Given the description of an element on the screen output the (x, y) to click on. 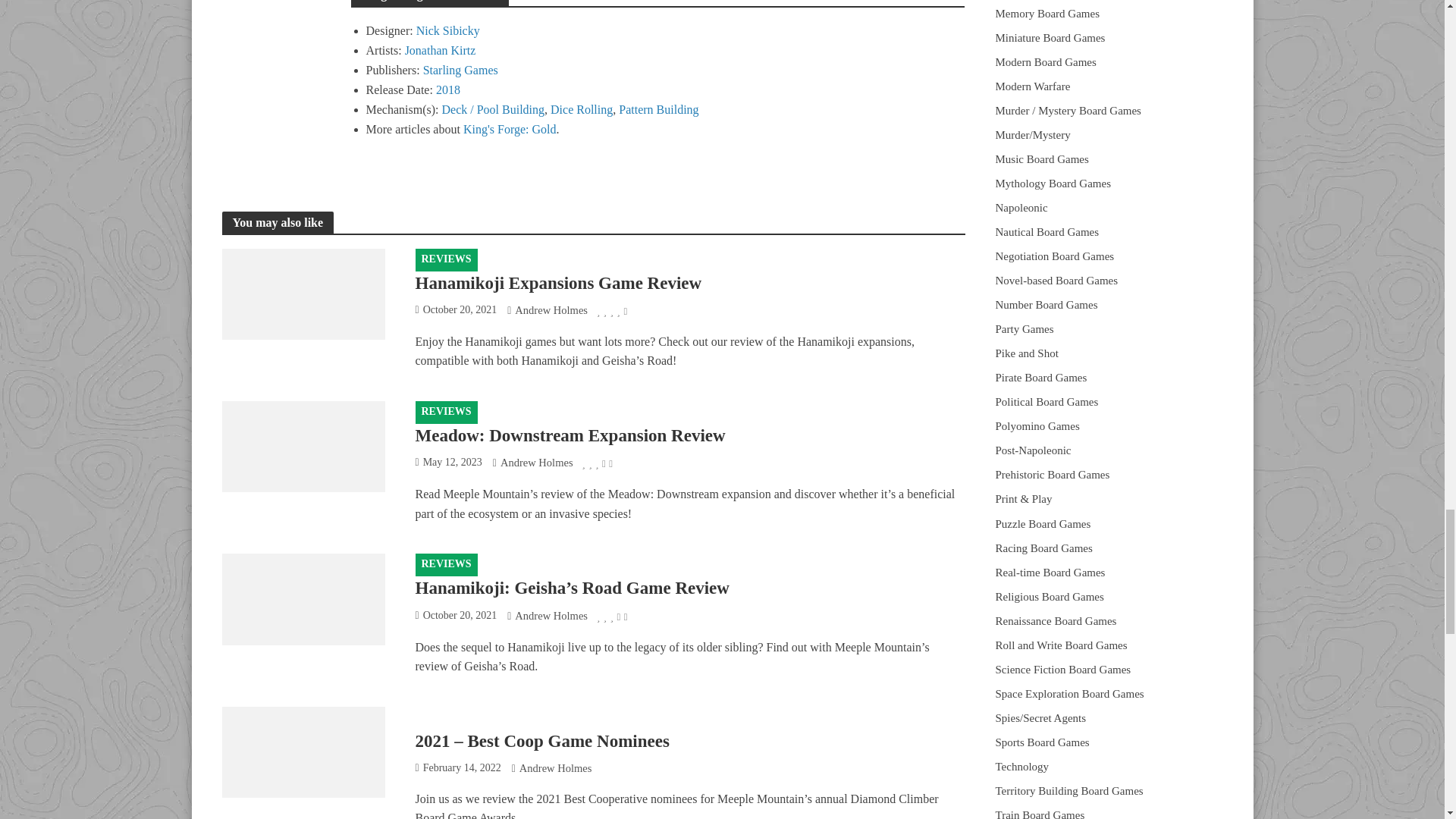
Meadow: Downstream Expansion Review (302, 445)
Hanamikoji Expansions Game Review (302, 291)
